Given the description of an element on the screen output the (x, y) to click on. 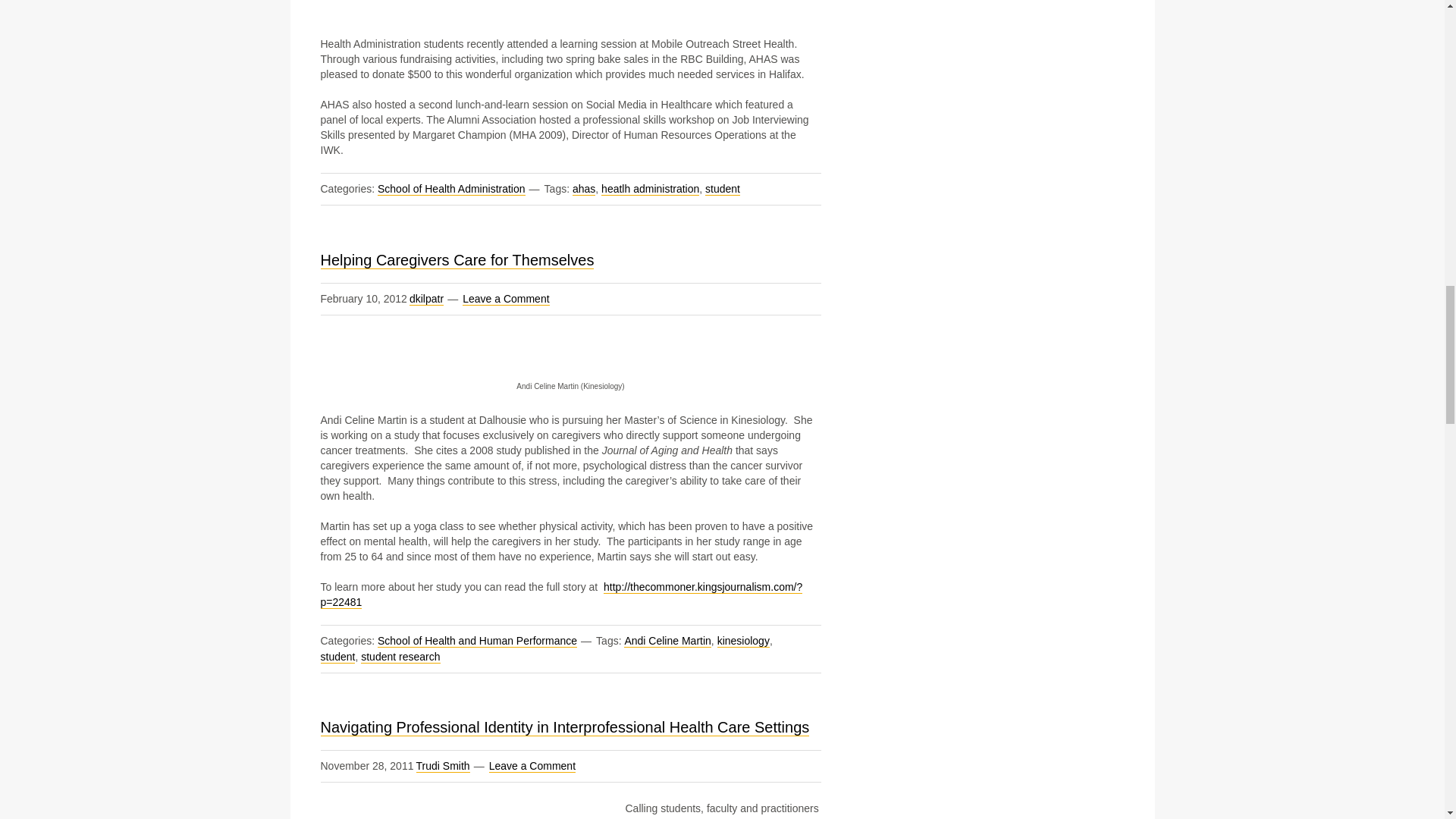
student (721, 188)
kinesiology (743, 640)
dkilpatr (426, 298)
heatlh administration (649, 188)
Andi Celine Martin (667, 640)
School of Health and Human Performance (476, 640)
Leave a Comment (505, 298)
School of Health Administration (451, 188)
ahas (583, 188)
Helping Caregivers Care for Themselves (457, 260)
